Given the description of an element on the screen output the (x, y) to click on. 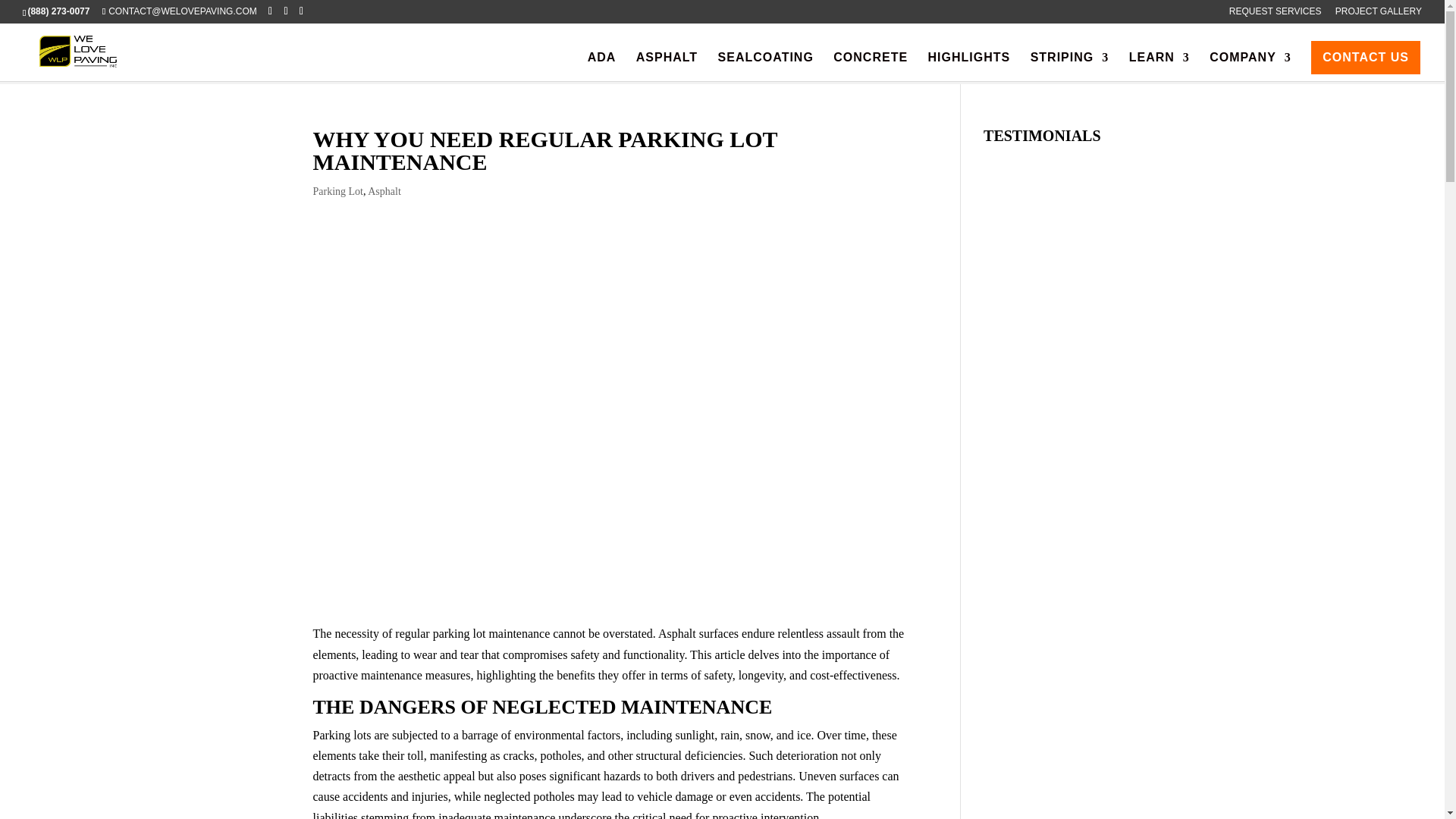
ADA (601, 66)
We Love Paving Testimonial! We Love Our Clients! (1057, 741)
STRIPING (1069, 66)
SEALCOATING (765, 66)
REQUEST SERVICES (1275, 14)
PROJECT GALLERY (1378, 14)
CONCRETE (869, 66)
ASPHALT (666, 66)
HIGHLIGHTS (969, 66)
